Given the description of an element on the screen output the (x, y) to click on. 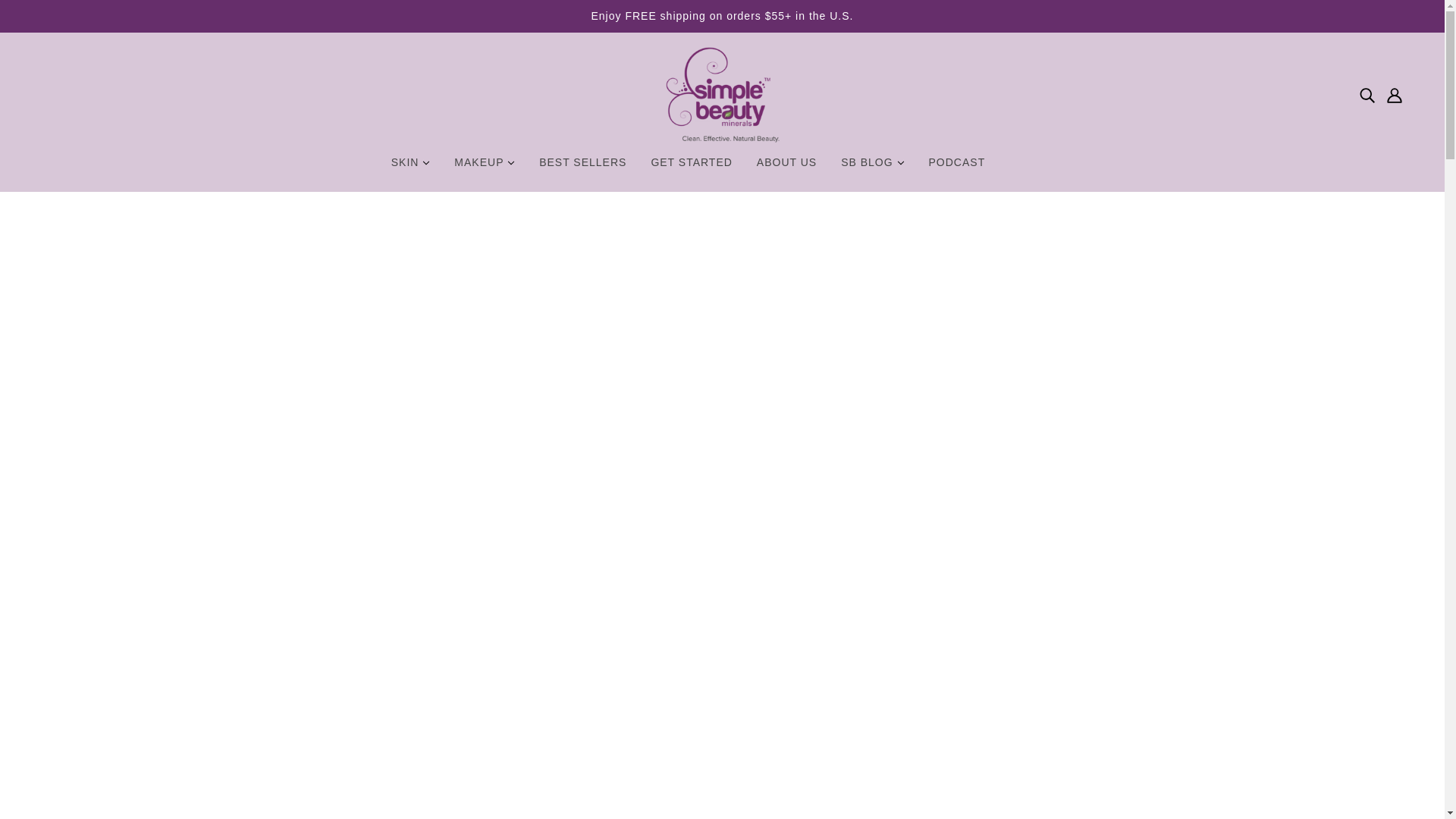
simplebeautyminerals.com (721, 94)
